Given the description of an element on the screen output the (x, y) to click on. 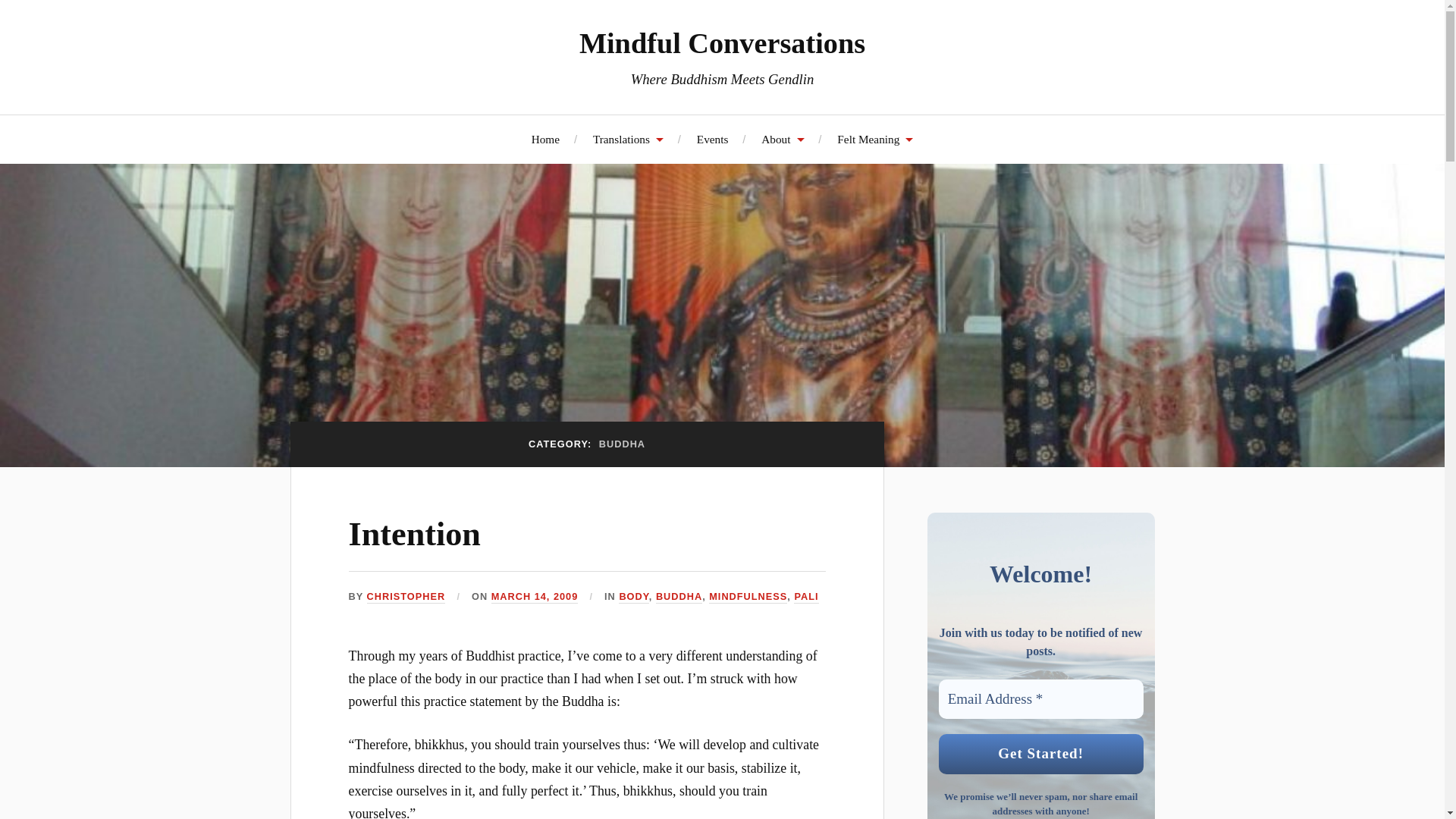
Posts by Christopher (405, 596)
Translations (627, 138)
Mindful Conversations (721, 42)
Email Address (1040, 699)
Get Started! (1040, 753)
